Given the description of an element on the screen output the (x, y) to click on. 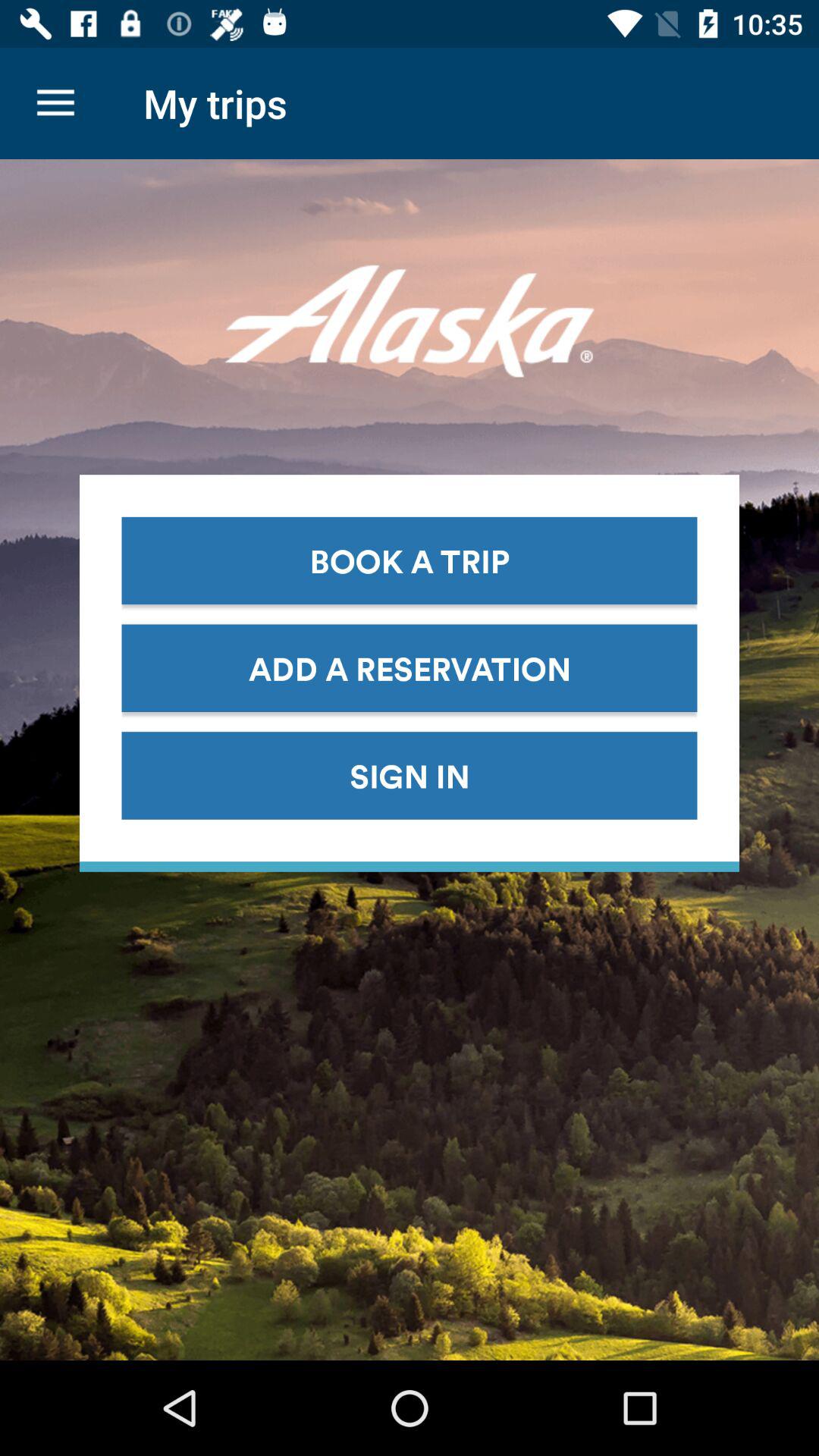
choose icon above the sign in item (409, 668)
